Given the description of an element on the screen output the (x, y) to click on. 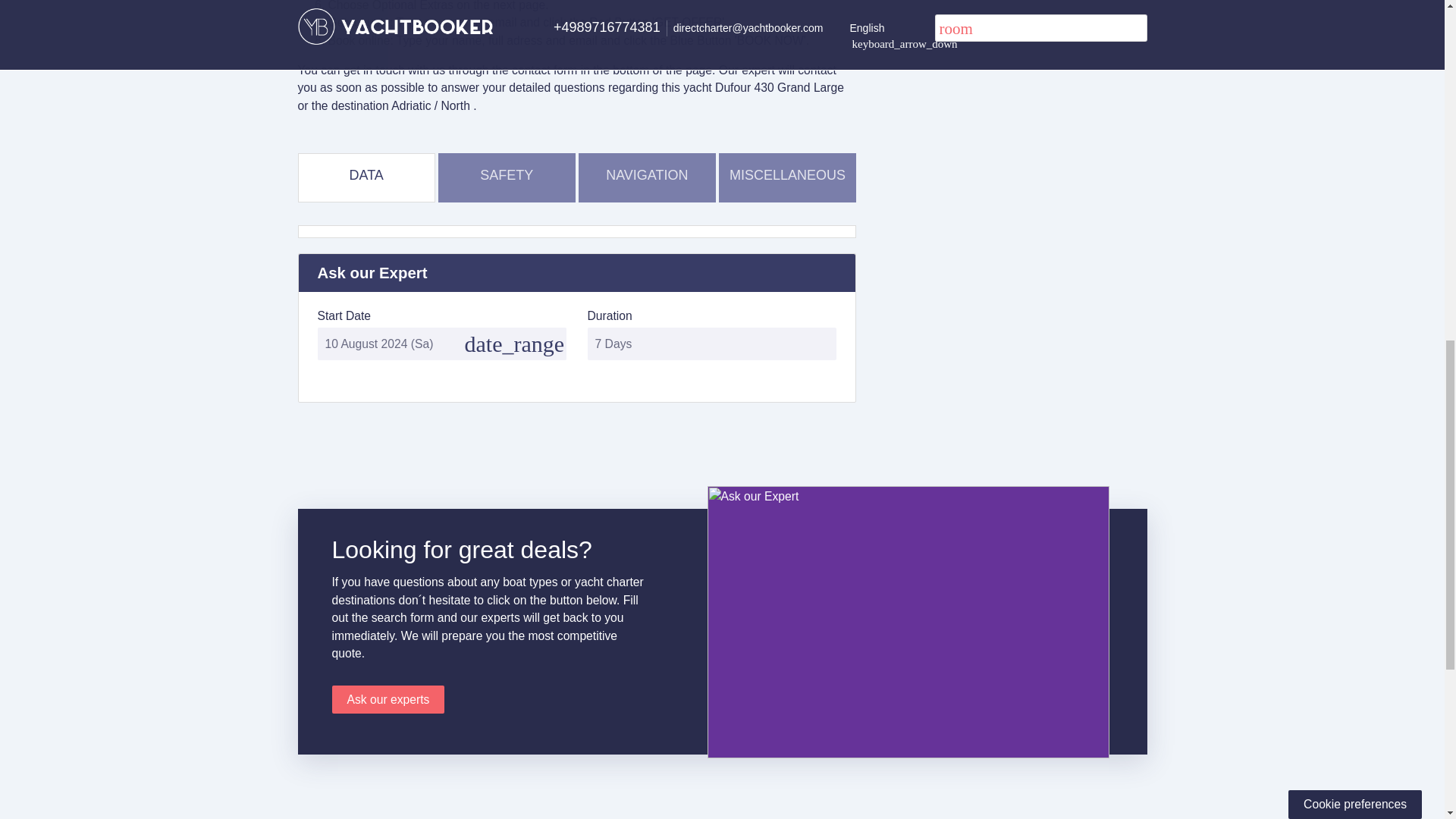
SAFETY (507, 174)
MISCELLANEOUS (787, 174)
NAVIGATION (646, 174)
DATA (365, 174)
Ask our experts (388, 699)
